Given the description of an element on the screen output the (x, y) to click on. 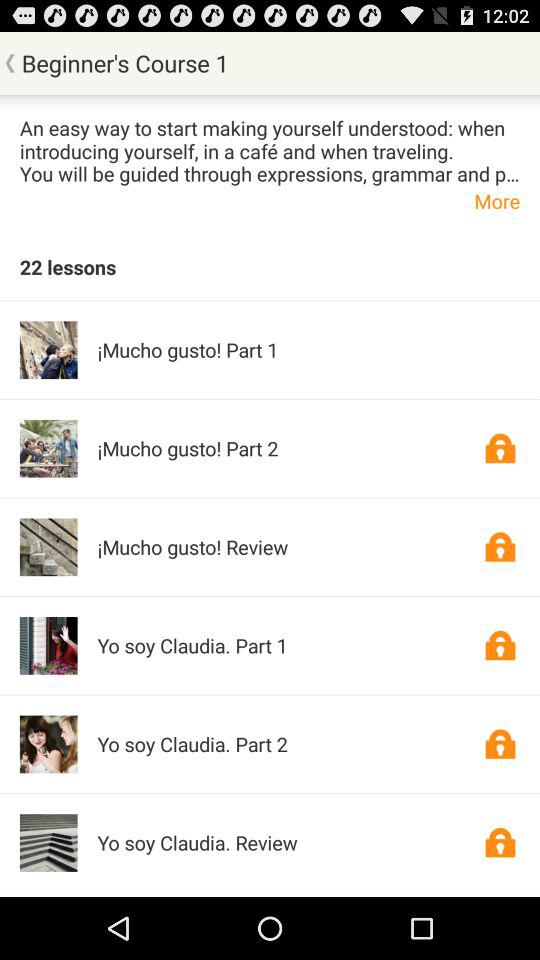
open the more icon (269, 200)
